Given the description of an element on the screen output the (x, y) to click on. 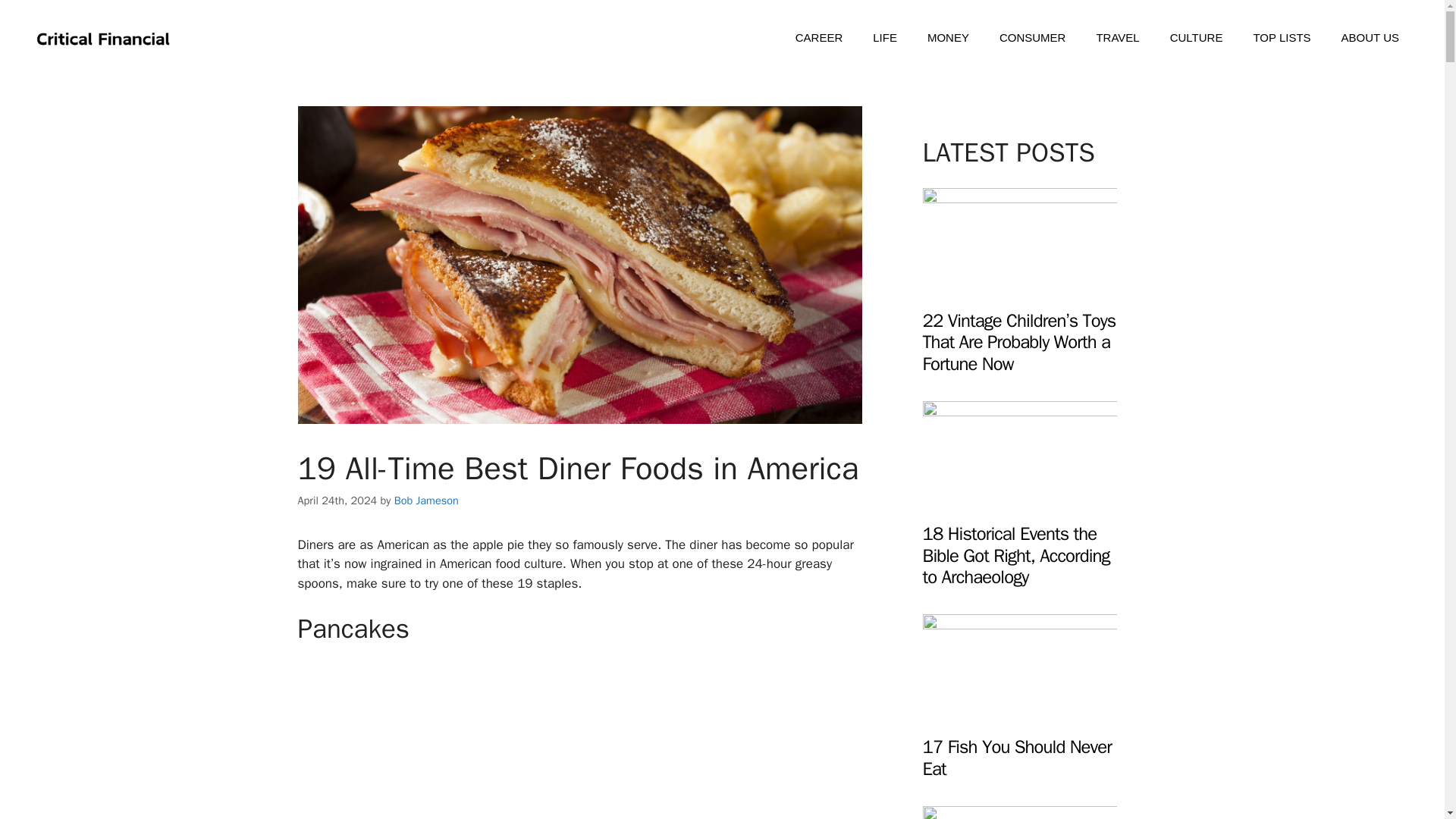
View all posts by Bob Jameson (426, 499)
CONSUMER (1032, 37)
17 Fish You Should Never Eat (1018, 713)
ABOUT US (1369, 37)
17 Fish You Should Never Eat (1015, 757)
TRAVEL (1117, 37)
Bob Jameson (426, 499)
LIFE (884, 37)
